Given the description of an element on the screen output the (x, y) to click on. 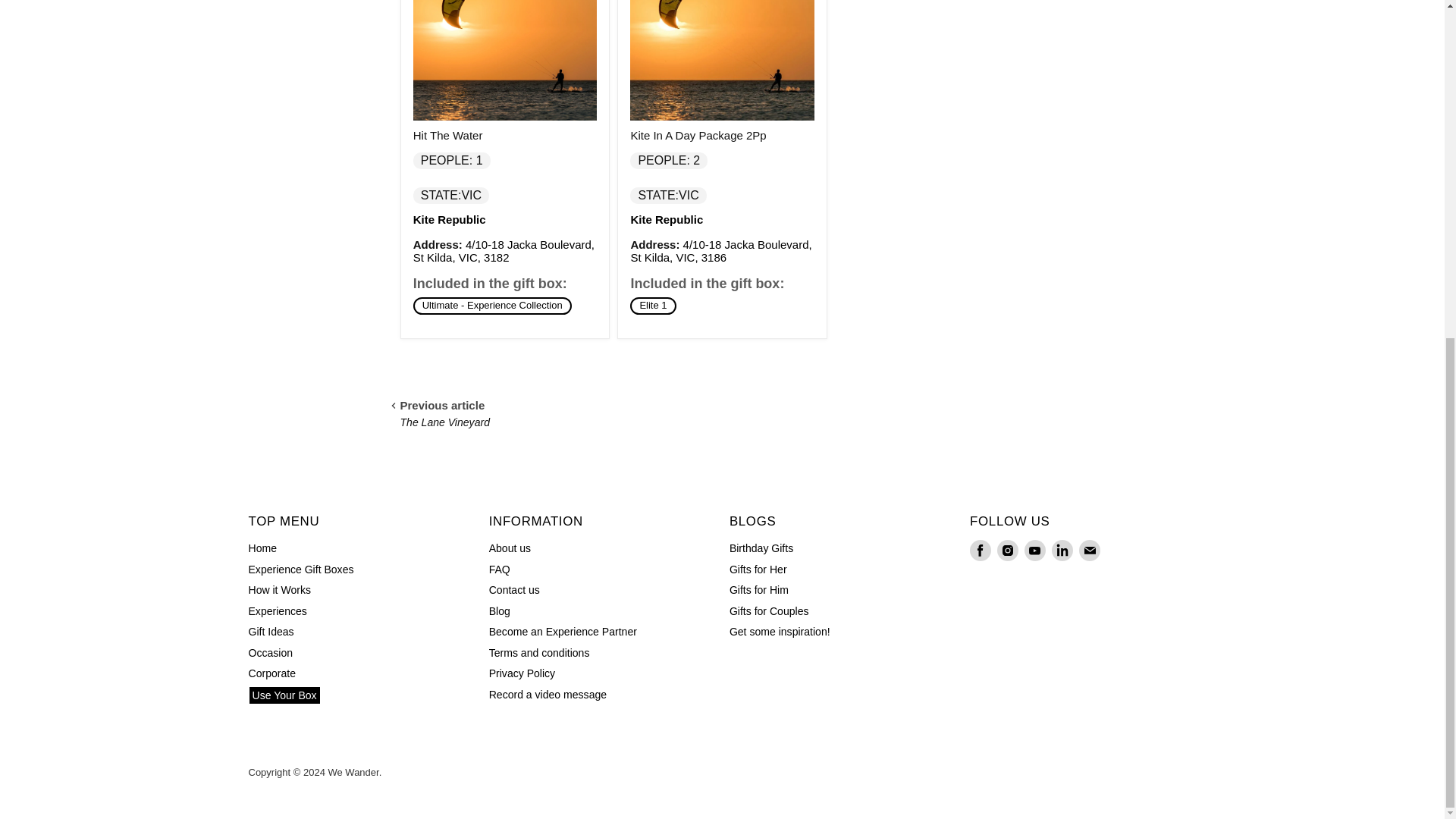
Instagram (1007, 550)
Facebook (980, 550)
Email (1089, 550)
Youtube (1035, 550)
LinkedIn (1062, 550)
